Given the description of an element on the screen output the (x, y) to click on. 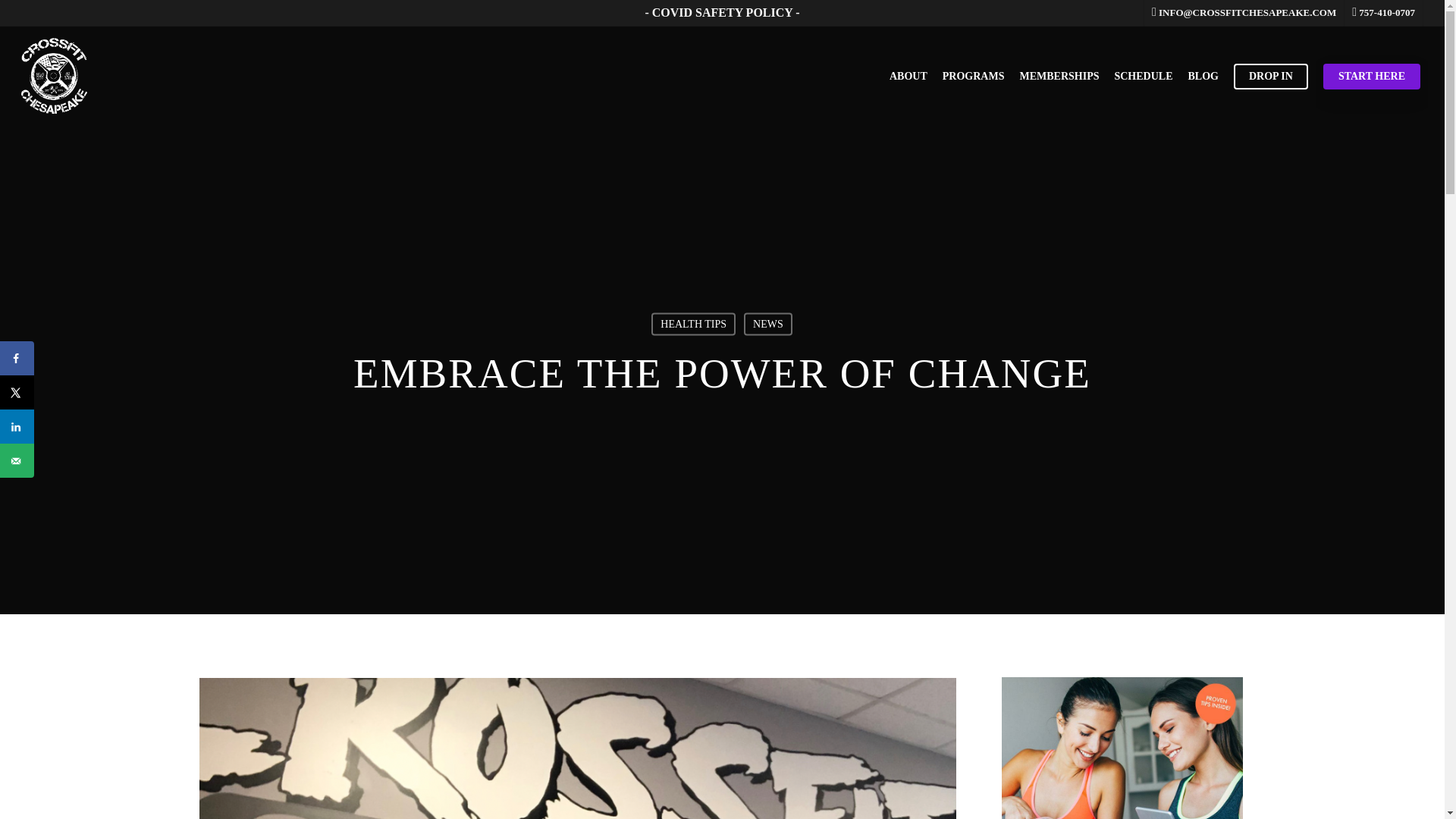
- COVID SAFETY POLICY - (722, 11)
PROGRAMS (973, 76)
Share on X (16, 392)
HEALTH TIPS (692, 323)
Share on Facebook (16, 358)
BLOG (1202, 76)
MEMBERSHIPS (1059, 76)
Share on LinkedIn (16, 426)
SCHEDULE (1142, 76)
Send over email (16, 460)
